Given the description of an element on the screen output the (x, y) to click on. 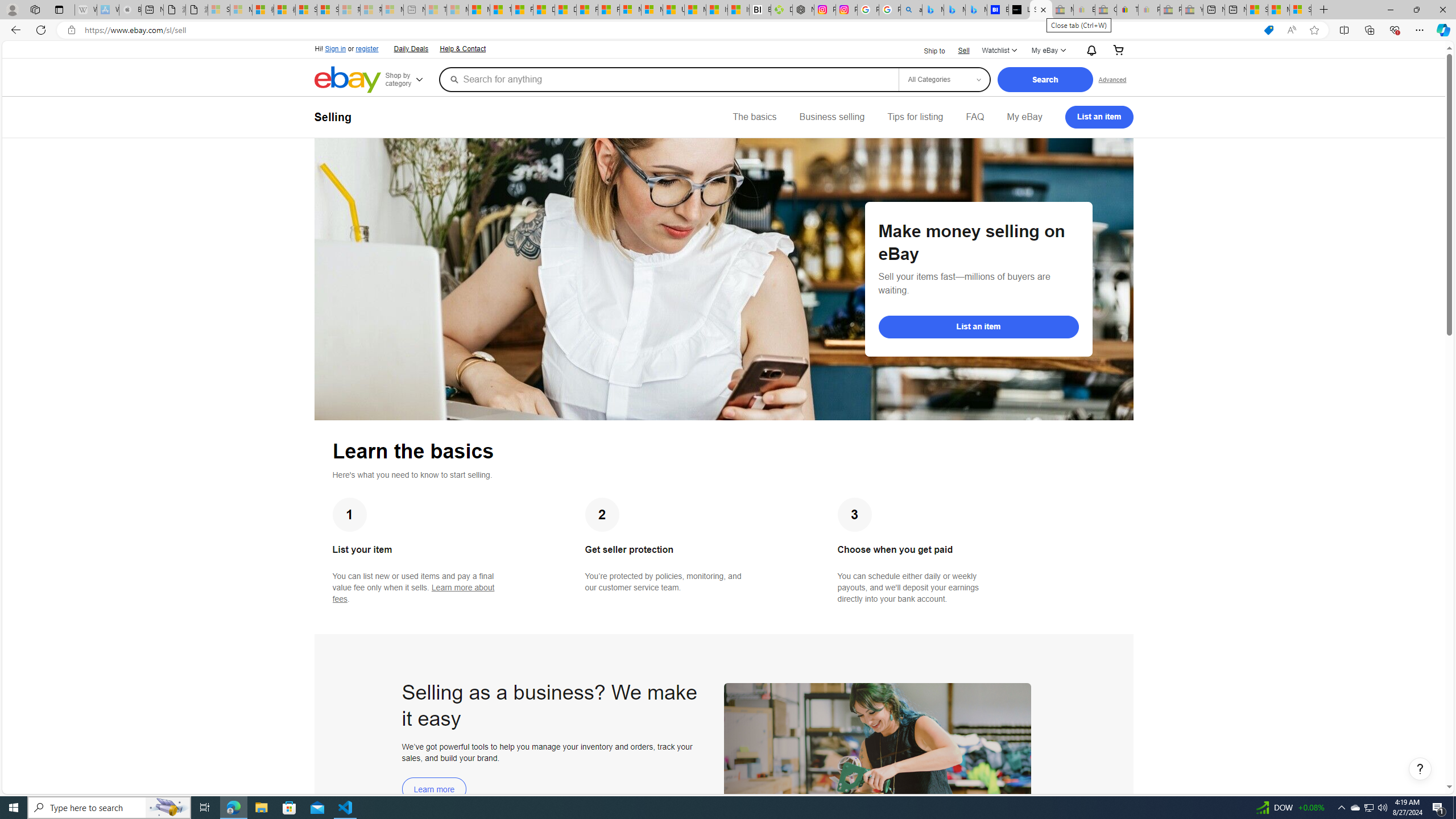
My eBay (1024, 116)
Food and Drink - MSN (522, 9)
Press Room - eBay Inc. - Sleeping (1170, 9)
My eBayExpand My eBay (1048, 50)
Business selling (831, 116)
Advanced Search (1112, 78)
